Given the description of an element on the screen output the (x, y) to click on. 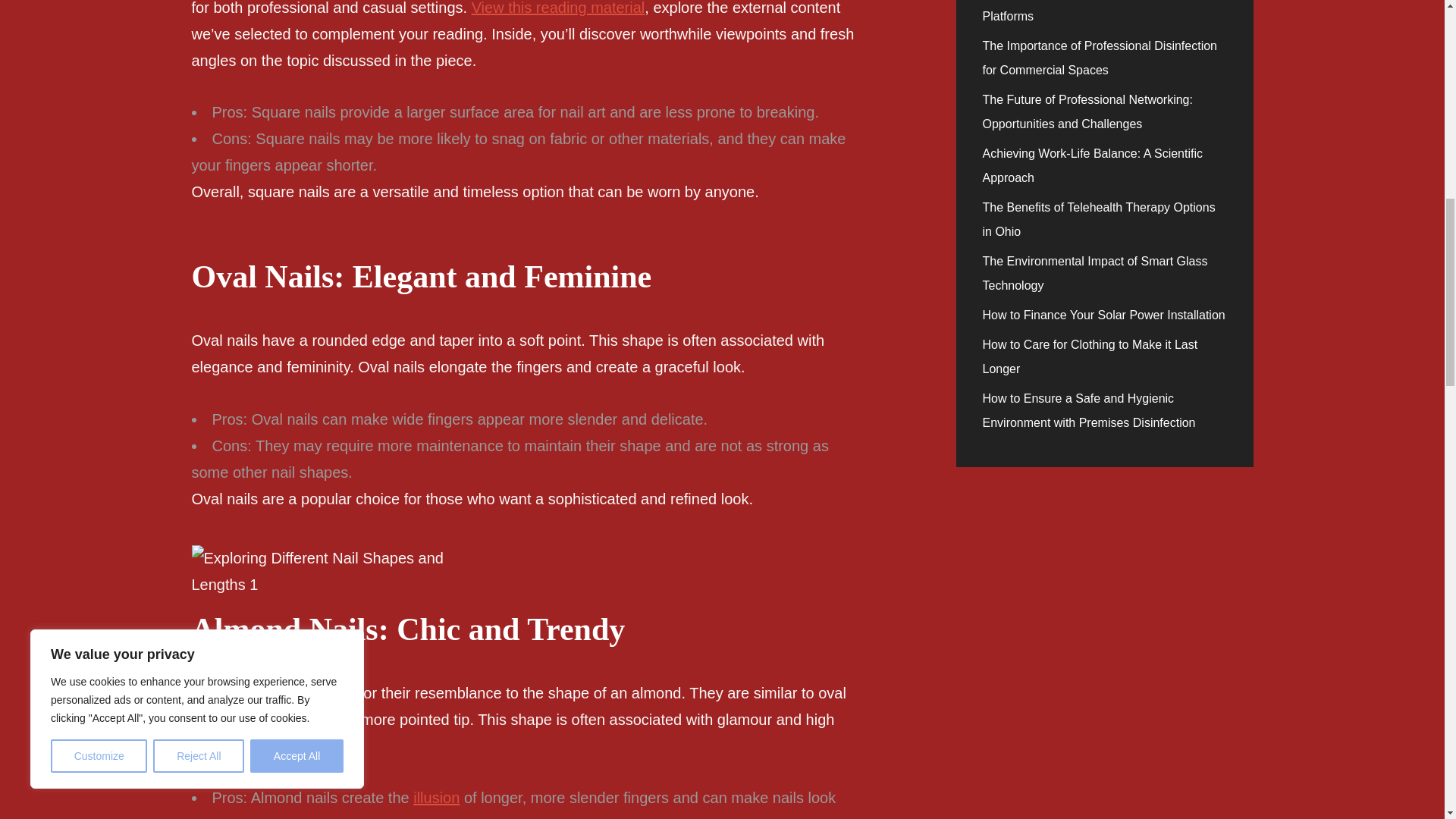
View this reading material (558, 7)
illusion (436, 797)
Ensuring the Legitimacy of Online Gambling Platforms (1101, 11)
